Given the description of an element on the screen output the (x, y) to click on. 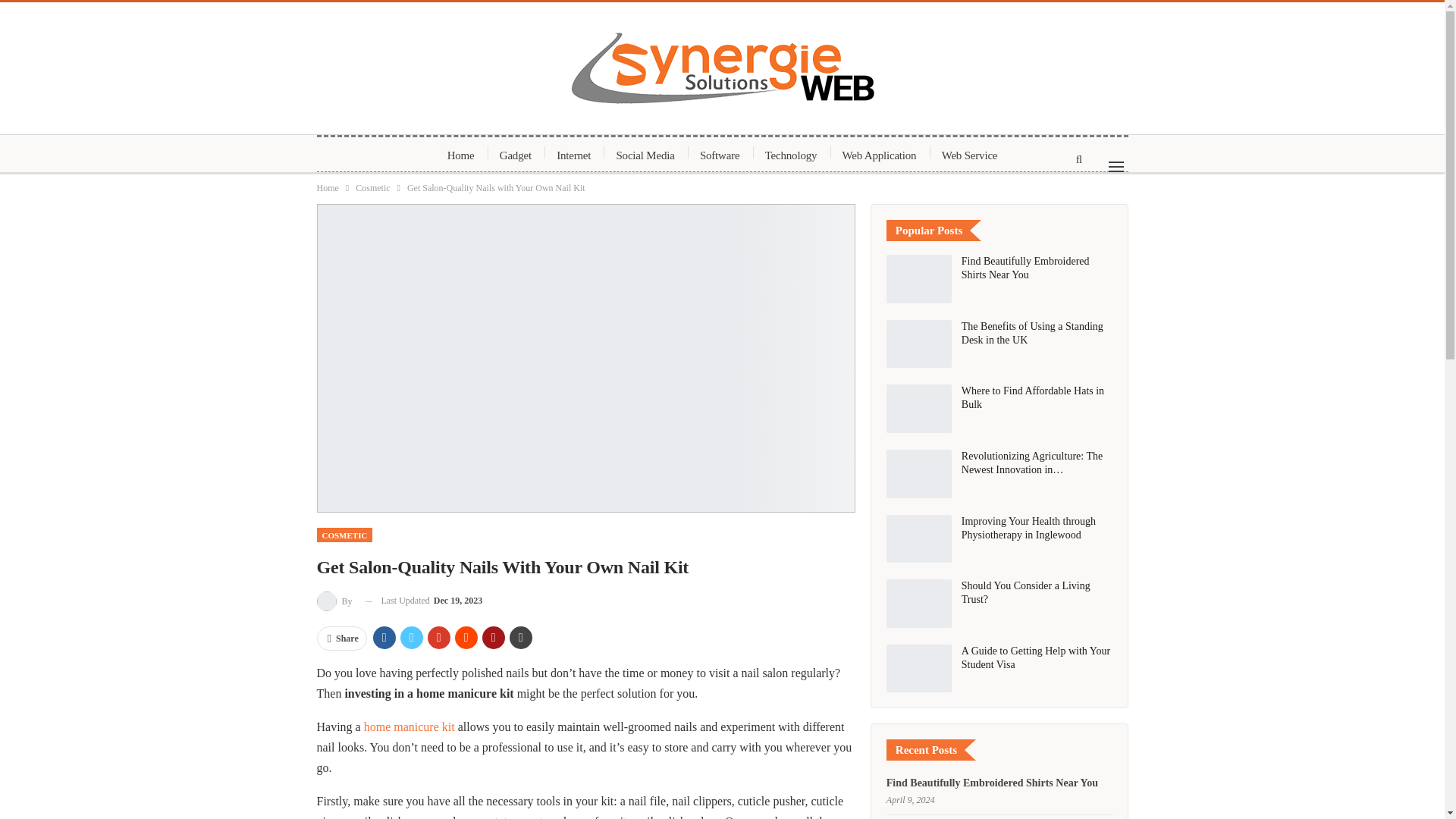
Software (719, 155)
Cosmetic (372, 187)
The Benefits of Using a Standing Desk in the UK (919, 344)
Gadget (515, 155)
Web Application (879, 155)
Browse Author Articles (335, 600)
Internet (573, 155)
Social Media (644, 155)
Home (460, 155)
COSMETIC (344, 534)
Home (328, 187)
Find Beautifully Embroidered Shirts Near You (919, 278)
Where to Find Affordable Hats in Bulk (919, 408)
By (335, 600)
